Given the description of an element on the screen output the (x, y) to click on. 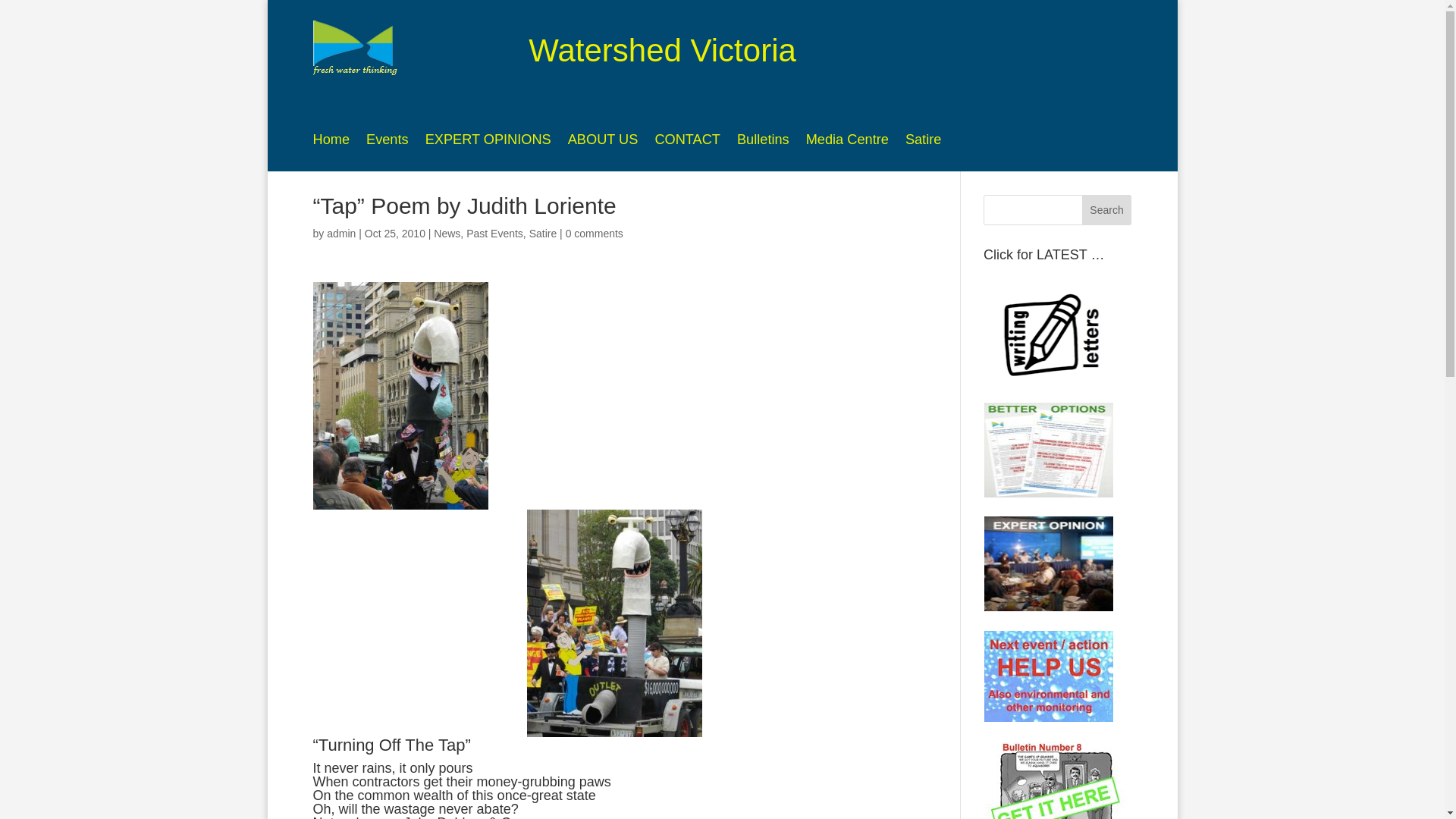
Satire Element type: text (923, 142)
EXPERT OPINIONS Element type: text (488, 142)
tap1 Element type: hover (399, 395)
Past Events Element type: text (494, 233)
Satire Element type: text (543, 233)
Home Element type: text (330, 142)
News Element type: text (446, 233)
ABOUT US Element type: text (602, 142)
0 comments Element type: text (594, 233)
Search Element type: text (1107, 209)
Media Centre Element type: text (847, 142)
tap2 Element type: hover (614, 623)
admin Element type: text (340, 233)
Events Element type: text (387, 142)
Bulletins Element type: text (763, 142)
CONTACT Element type: text (687, 142)
logo1 Element type: hover (357, 50)
